Given the description of an element on the screen output the (x, y) to click on. 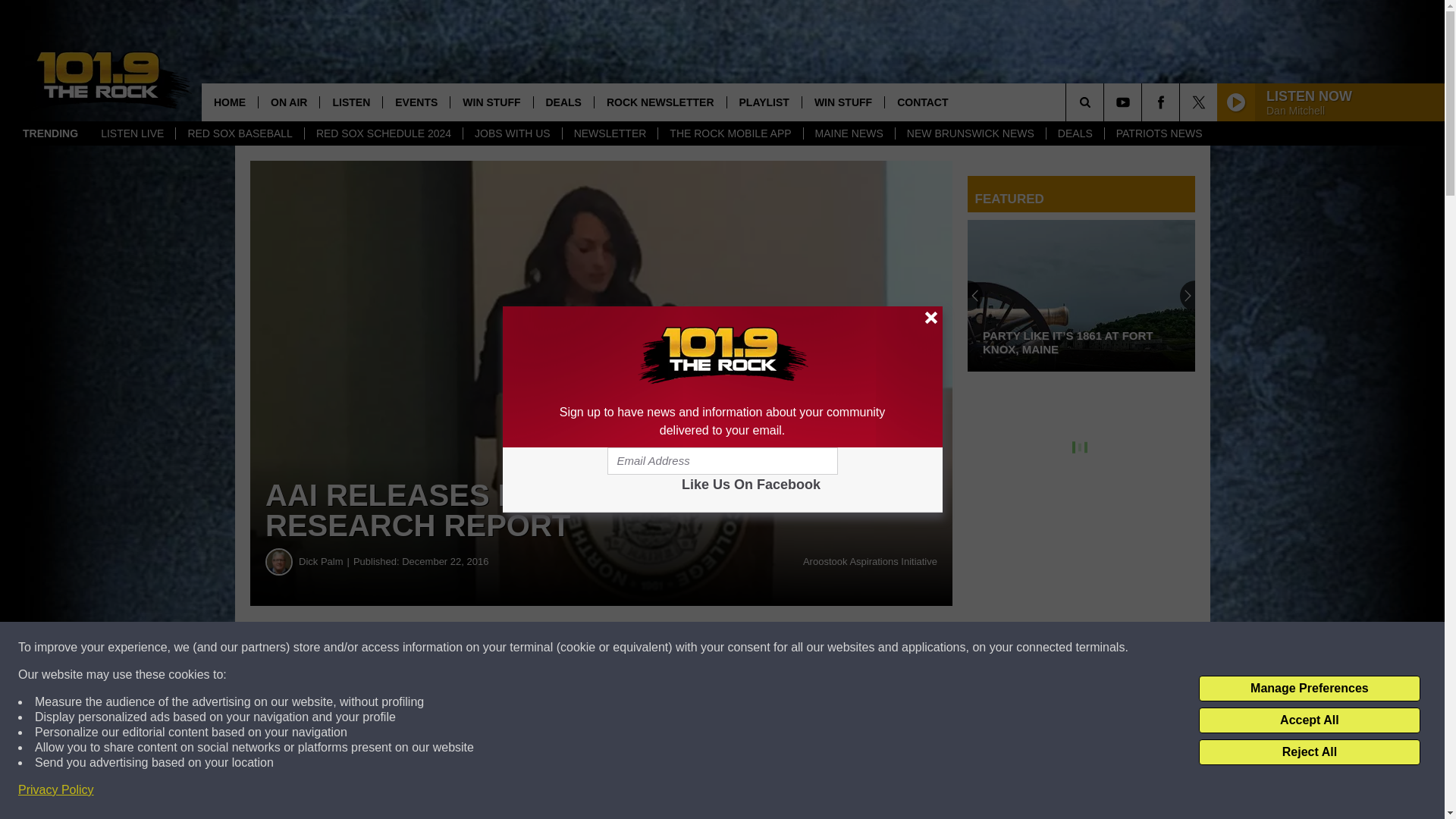
TRENDING (49, 133)
JOBS WITH US (512, 133)
Share on Facebook (460, 647)
PLAYLIST (764, 102)
ON AIR (287, 102)
Accept All (1309, 720)
RED SOX SCHEDULE 2024 (383, 133)
Privacy Policy (55, 789)
THE ROCK MOBILE APP (730, 133)
LISTEN (349, 102)
NEWSLETTER (610, 133)
WIN STUFF (490, 102)
DEALS (1074, 133)
SEARCH (1106, 102)
Reject All (1309, 751)
